Given the description of an element on the screen output the (x, y) to click on. 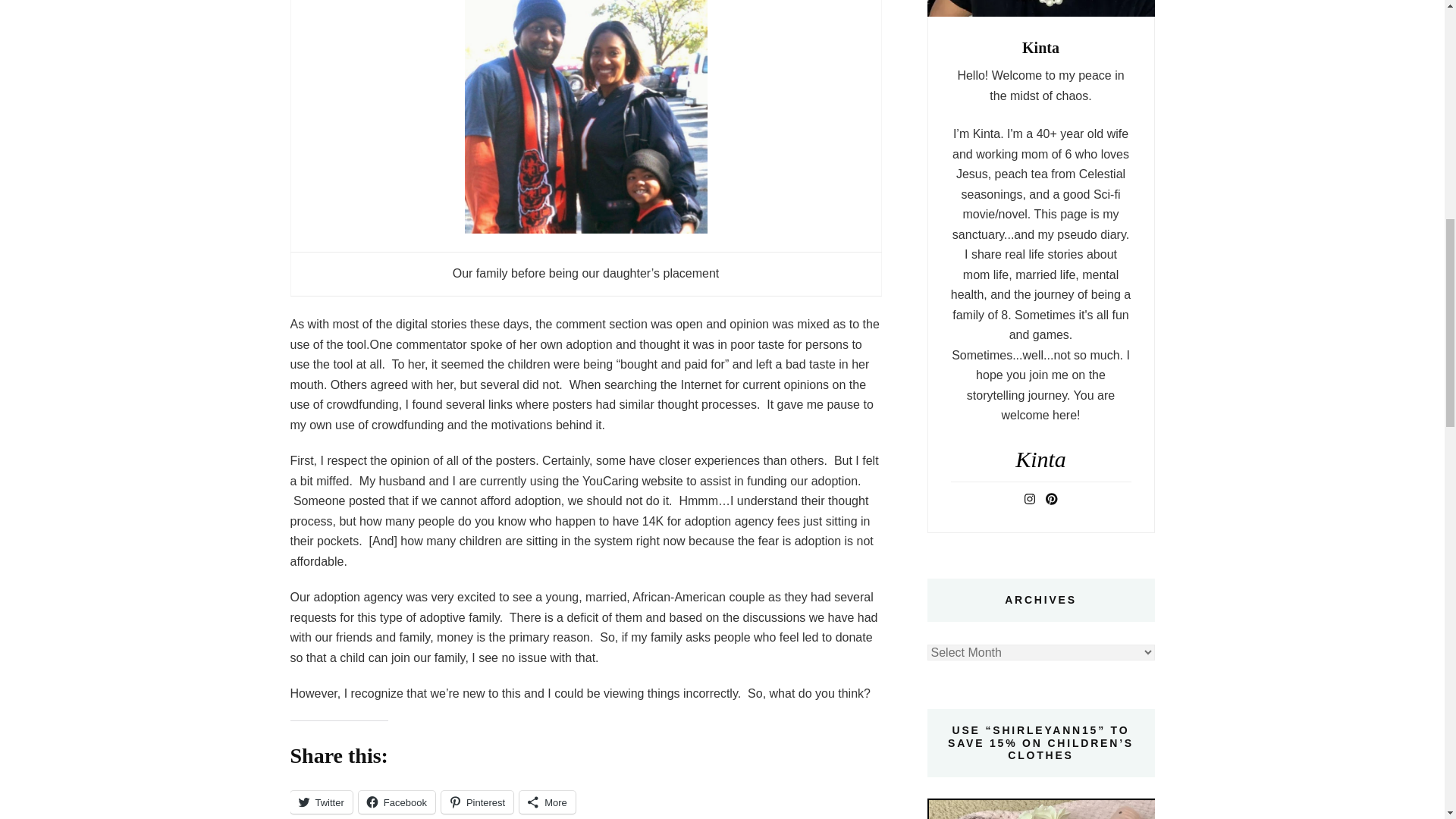
Click to share on Facebook (396, 802)
Click to share on Pinterest (477, 802)
Click to share on Twitter (320, 802)
